Given the description of an element on the screen output the (x, y) to click on. 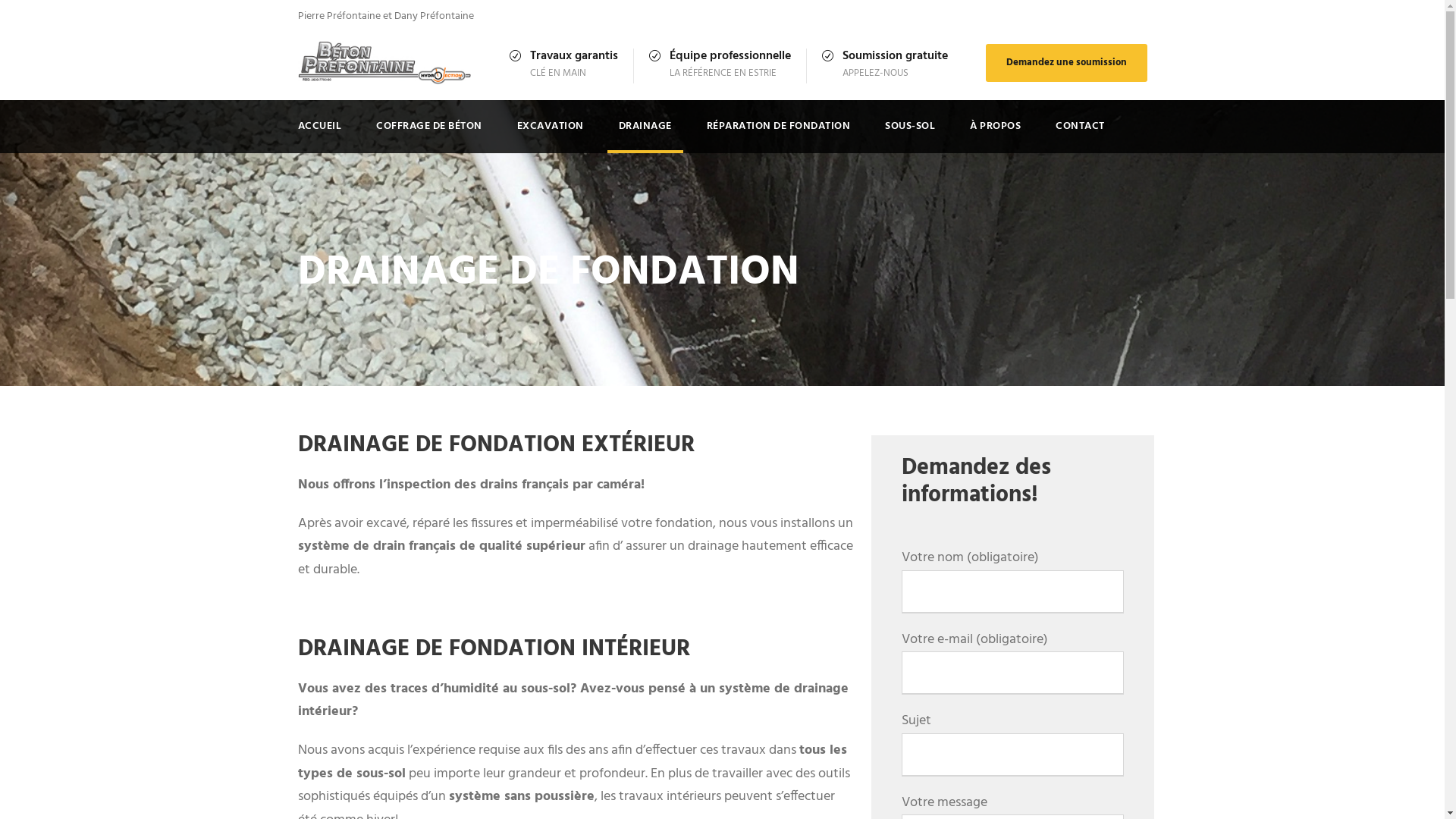
Demandez une soumission Element type: text (1066, 62)
ACCUEIL Element type: text (319, 135)
SOUS-SOL Element type: text (909, 135)
EXCAVATION Element type: text (550, 135)
CONTACT Element type: text (1079, 135)
DRAINAGE Element type: text (644, 135)
